Given the description of an element on the screen output the (x, y) to click on. 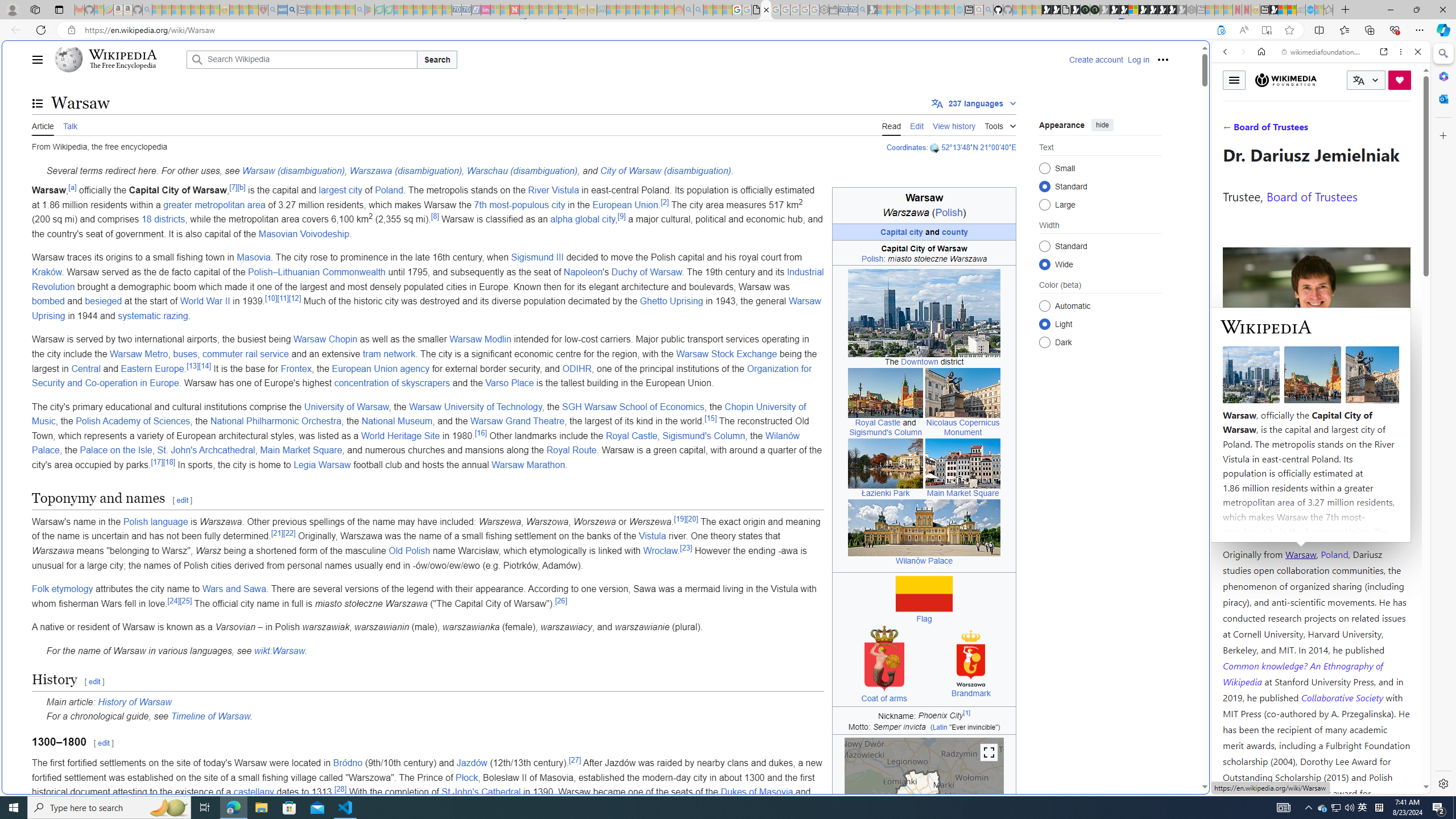
World War II (204, 301)
Class: oo-ui-buttonElement-button (988, 752)
[2] (665, 201)
